Given the description of an element on the screen output the (x, y) to click on. 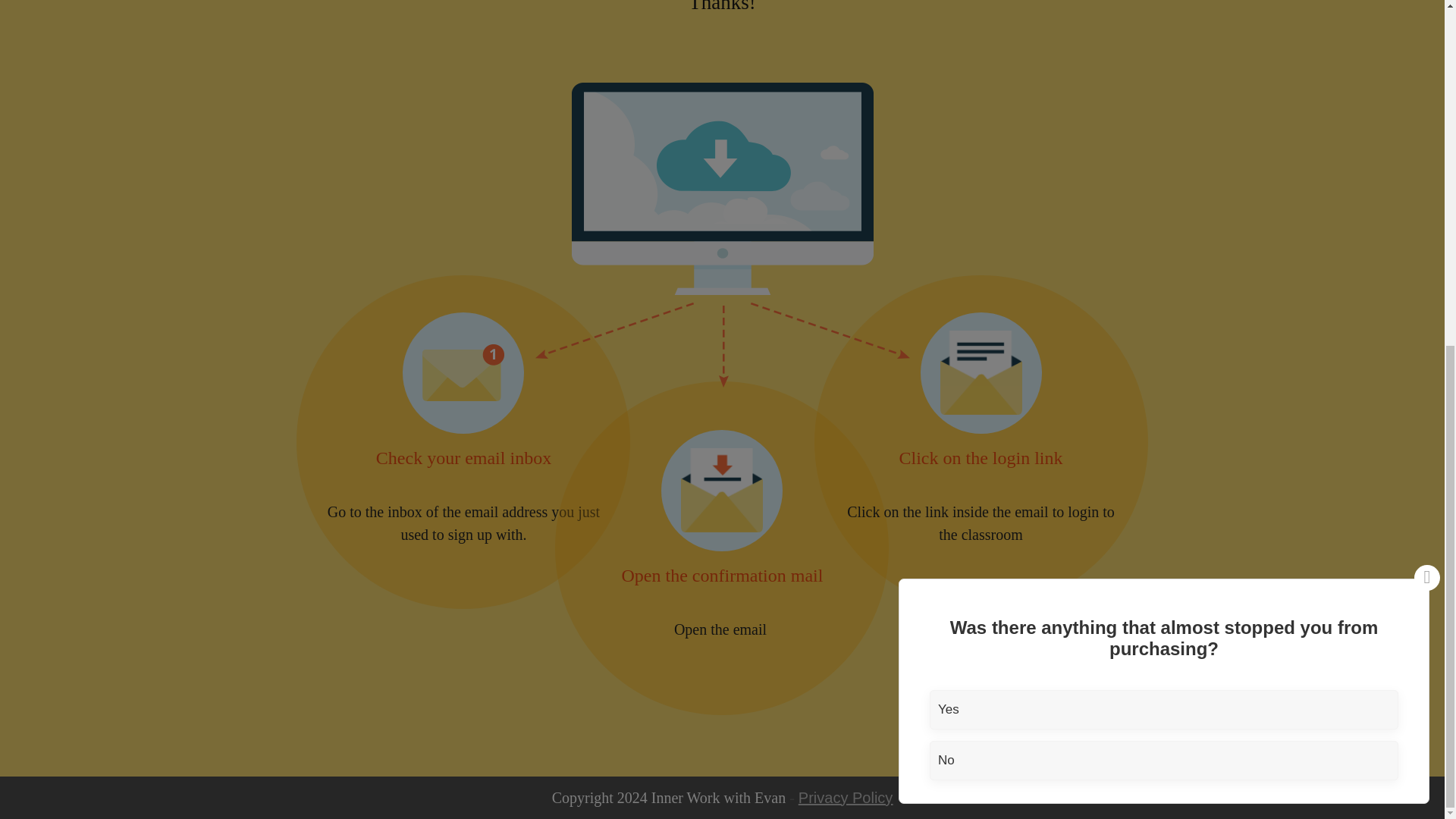
flat-2-download-screen (722, 187)
flat-2-download-step1 (462, 372)
flat2-3-arrows (722, 344)
Privacy Policy (844, 796)
flat-2-download-step2 (721, 489)
flat-2-download-step3 (981, 372)
